Given the description of an element on the screen output the (x, y) to click on. 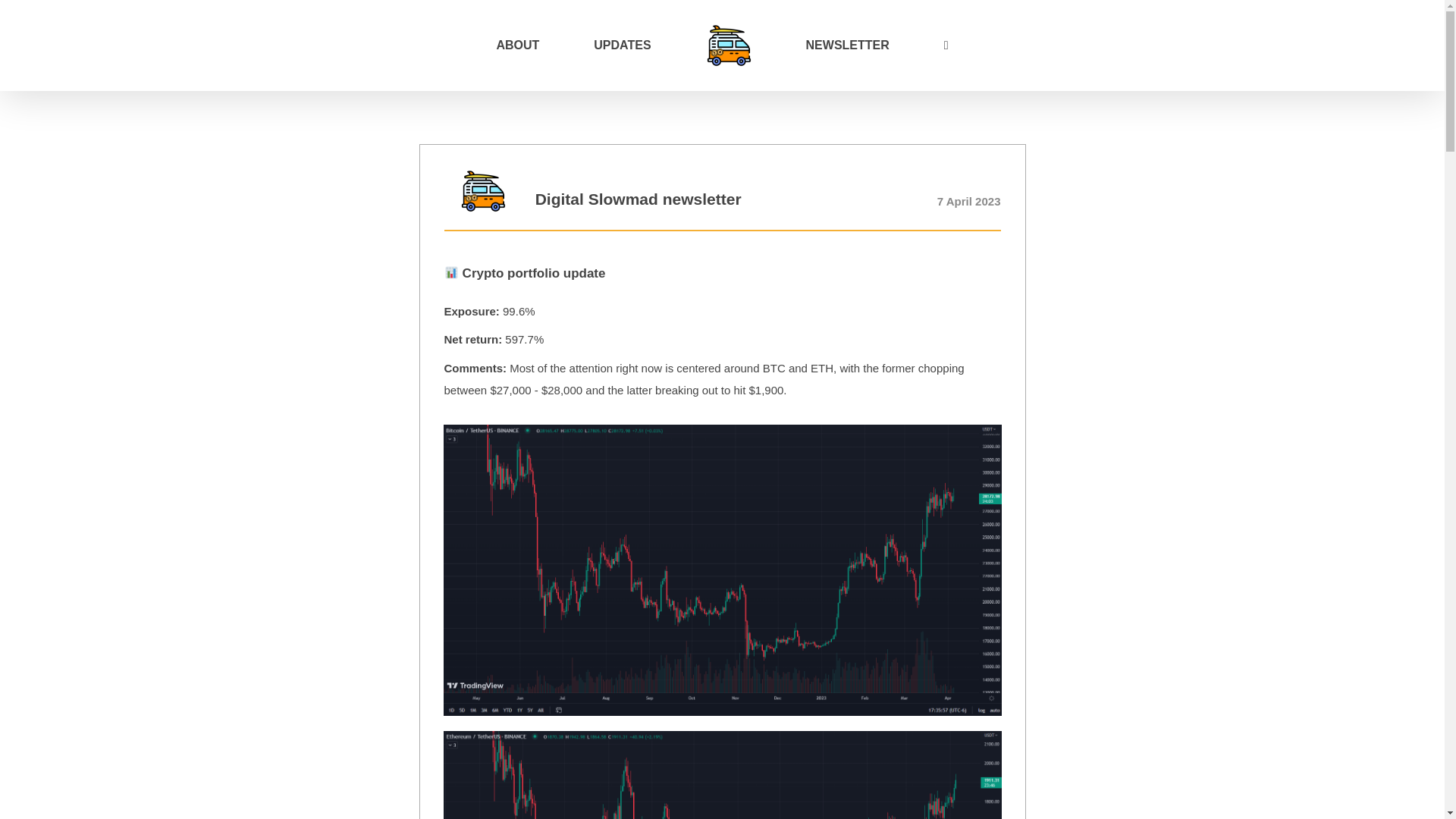
digital slowmad (482, 190)
ABOUT (517, 44)
NEWSLETTER (847, 44)
UPDATES (622, 44)
